Given the description of an element on the screen output the (x, y) to click on. 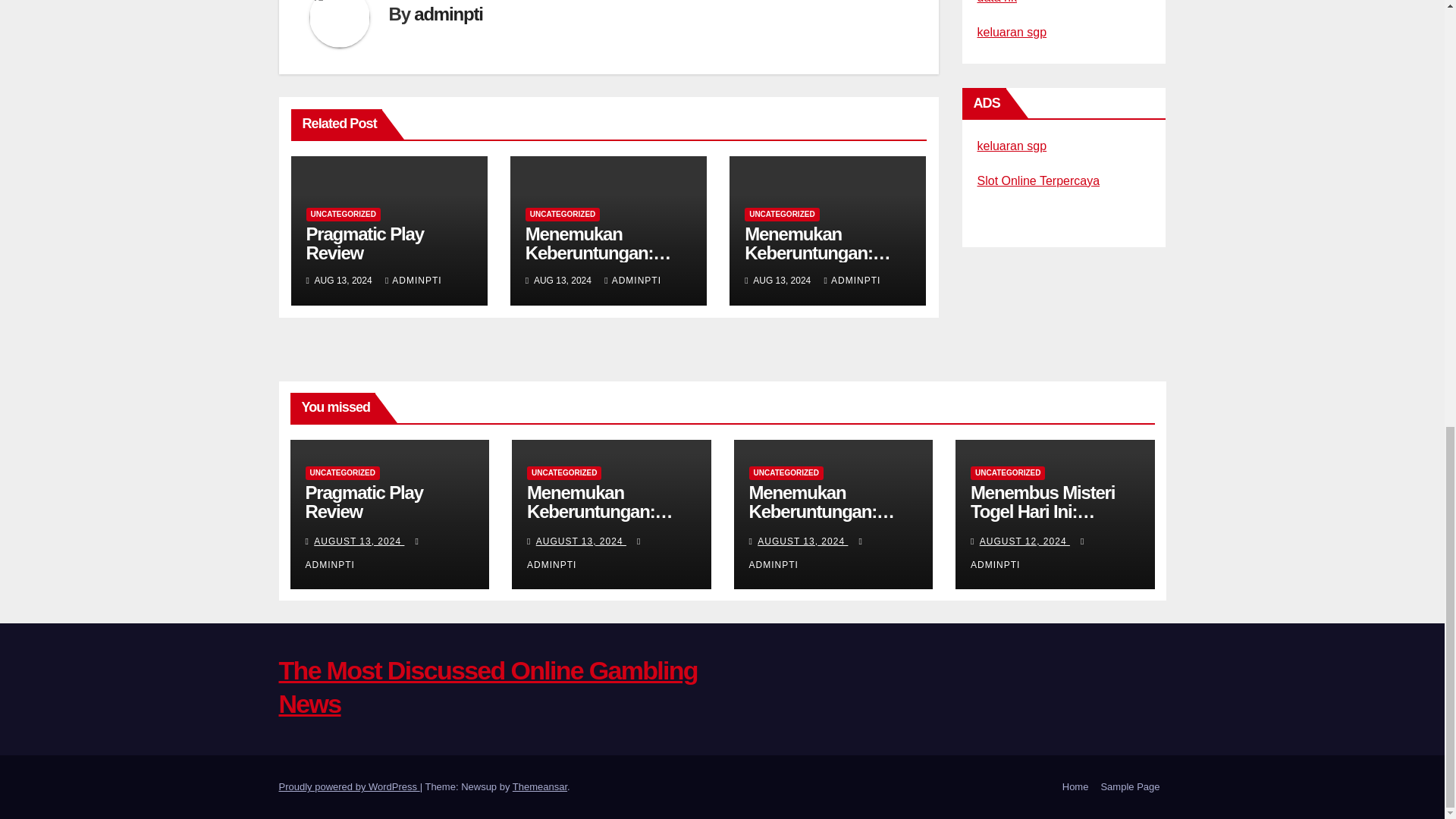
UNCATEGORIZED (562, 214)
Permalink to: Pragmatic Play Review (363, 501)
Permalink to: Pragmatic Play Review (364, 242)
UNCATEGORIZED (781, 214)
Pragmatic Play Review (364, 242)
ADMINPTI (632, 280)
